Given the description of an element on the screen output the (x, y) to click on. 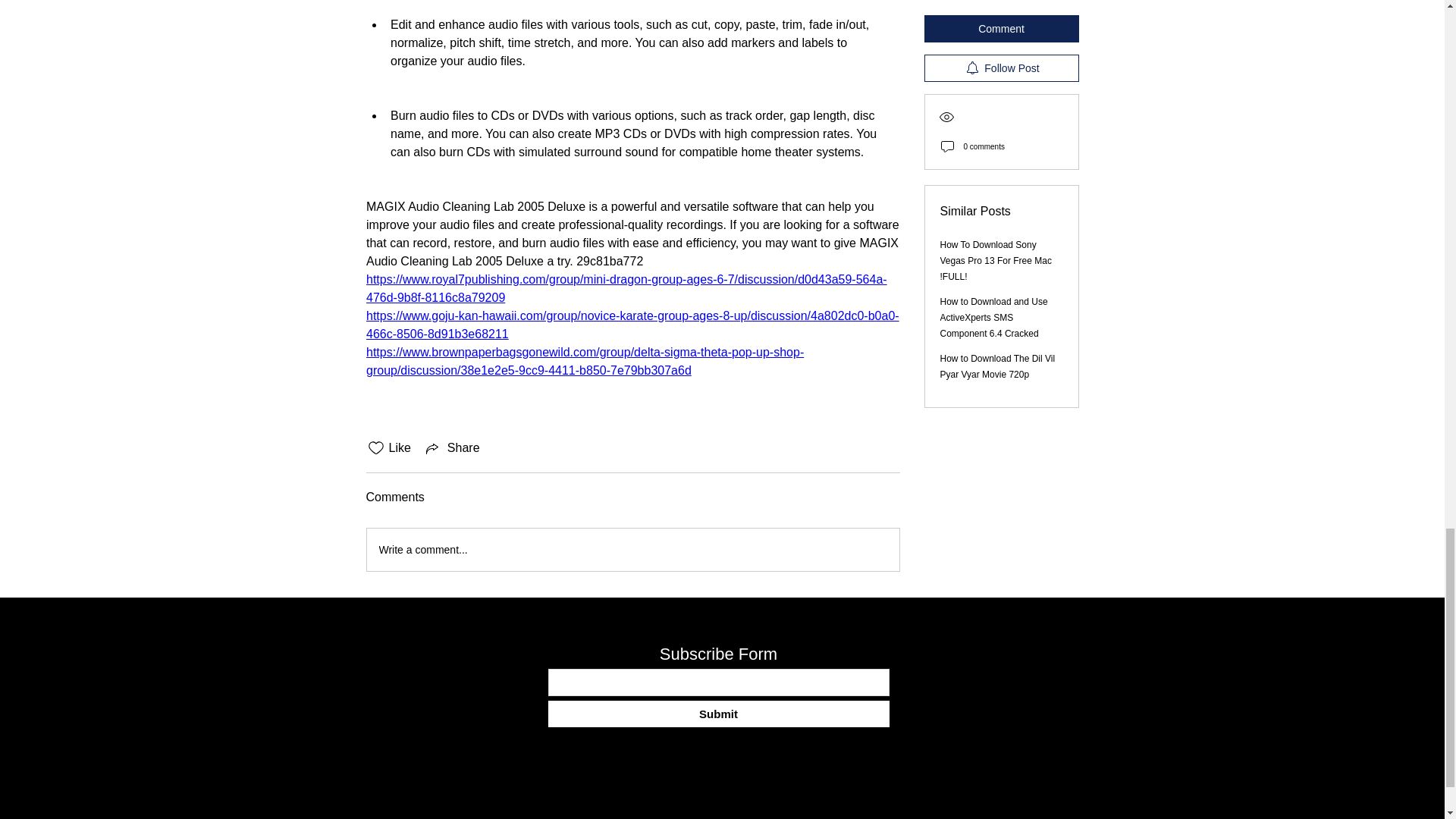
Write a comment... (632, 549)
Share (451, 447)
Submit (717, 714)
